Given the description of an element on the screen output the (x, y) to click on. 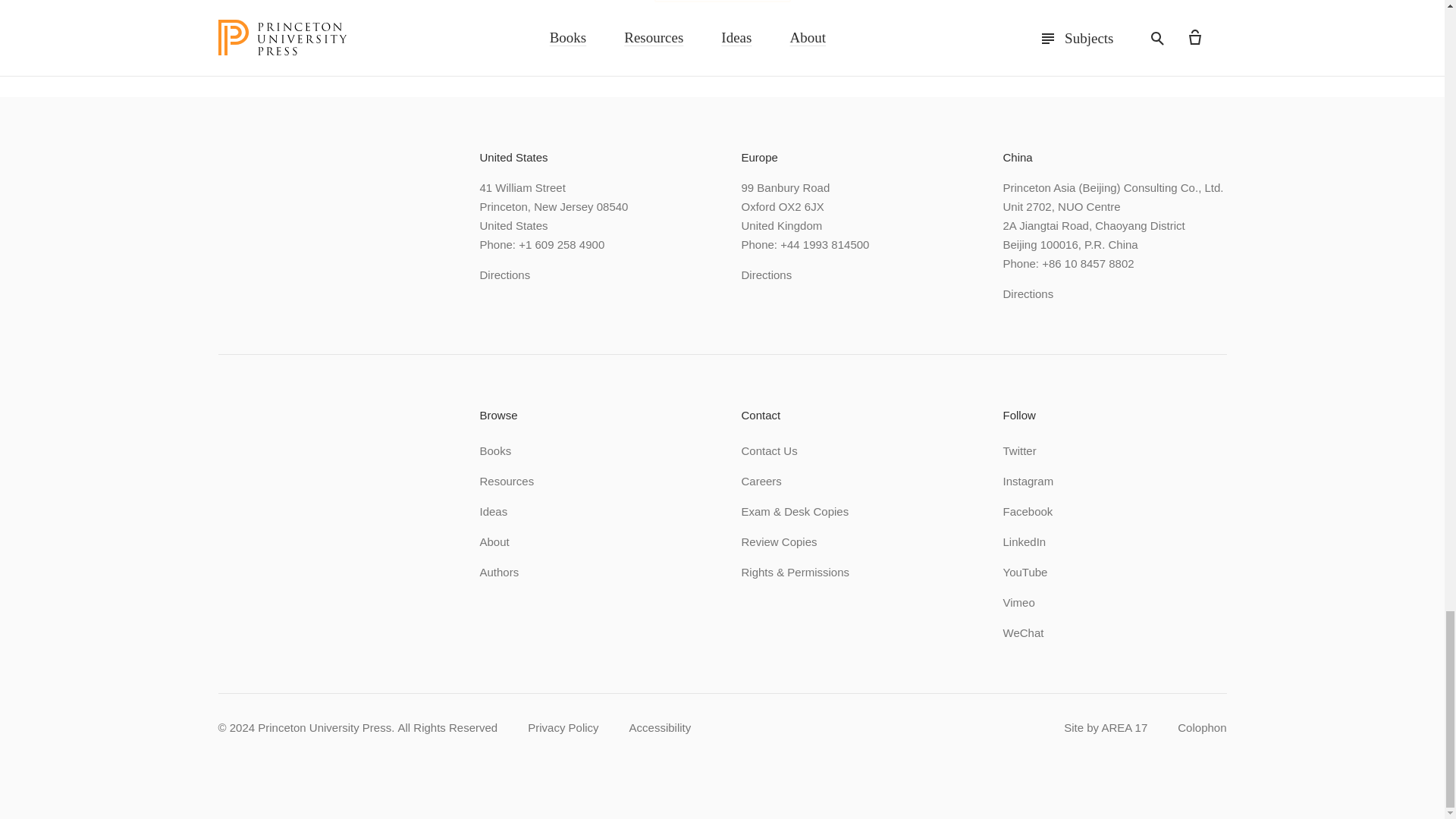
Subscribe (721, 1)
Subscribe (721, 1)
